Given the description of an element on the screen output the (x, y) to click on. 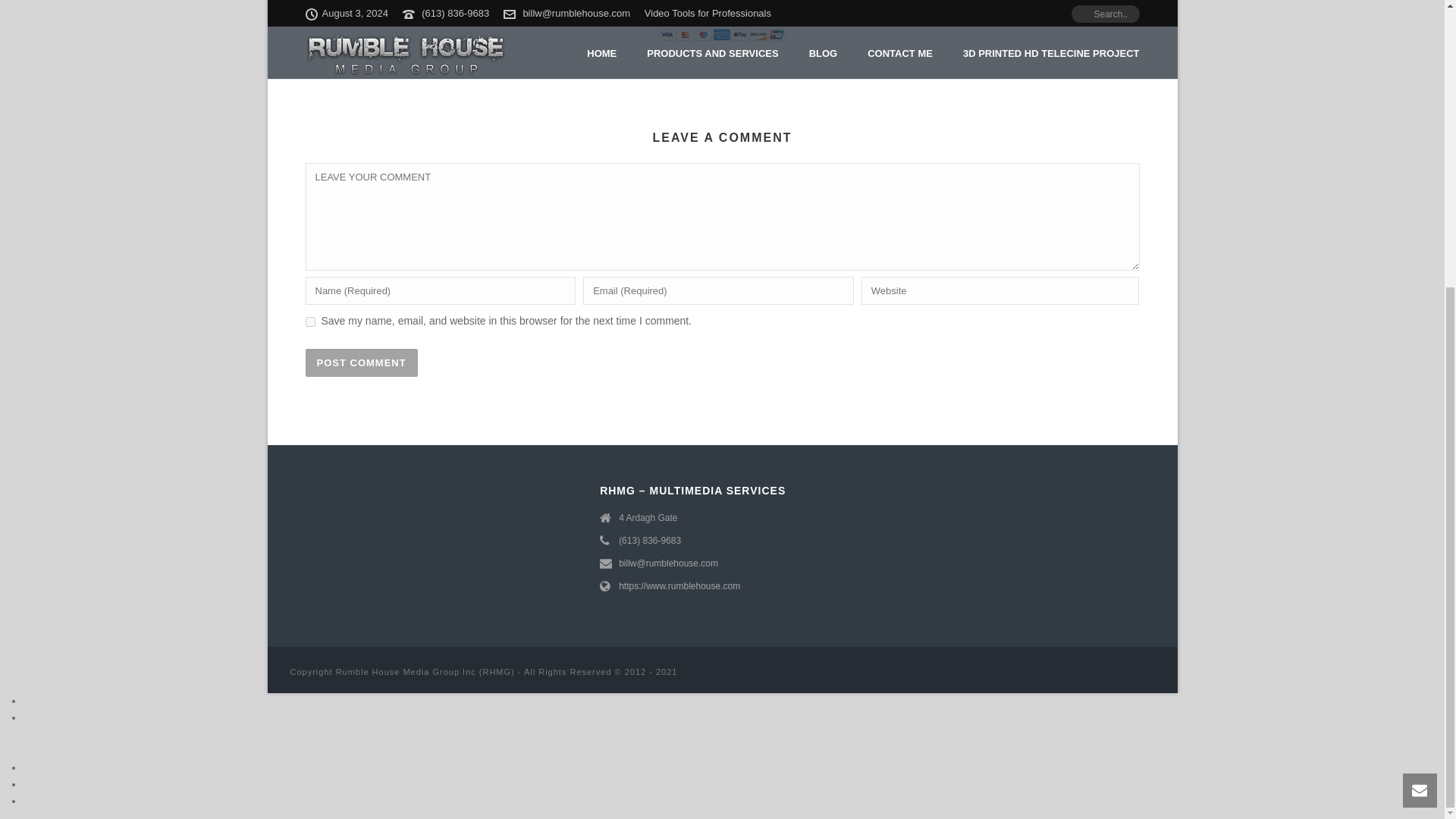
yes (309, 321)
POST COMMENT (360, 362)
POST COMMENT (360, 362)
